Given the description of an element on the screen output the (x, y) to click on. 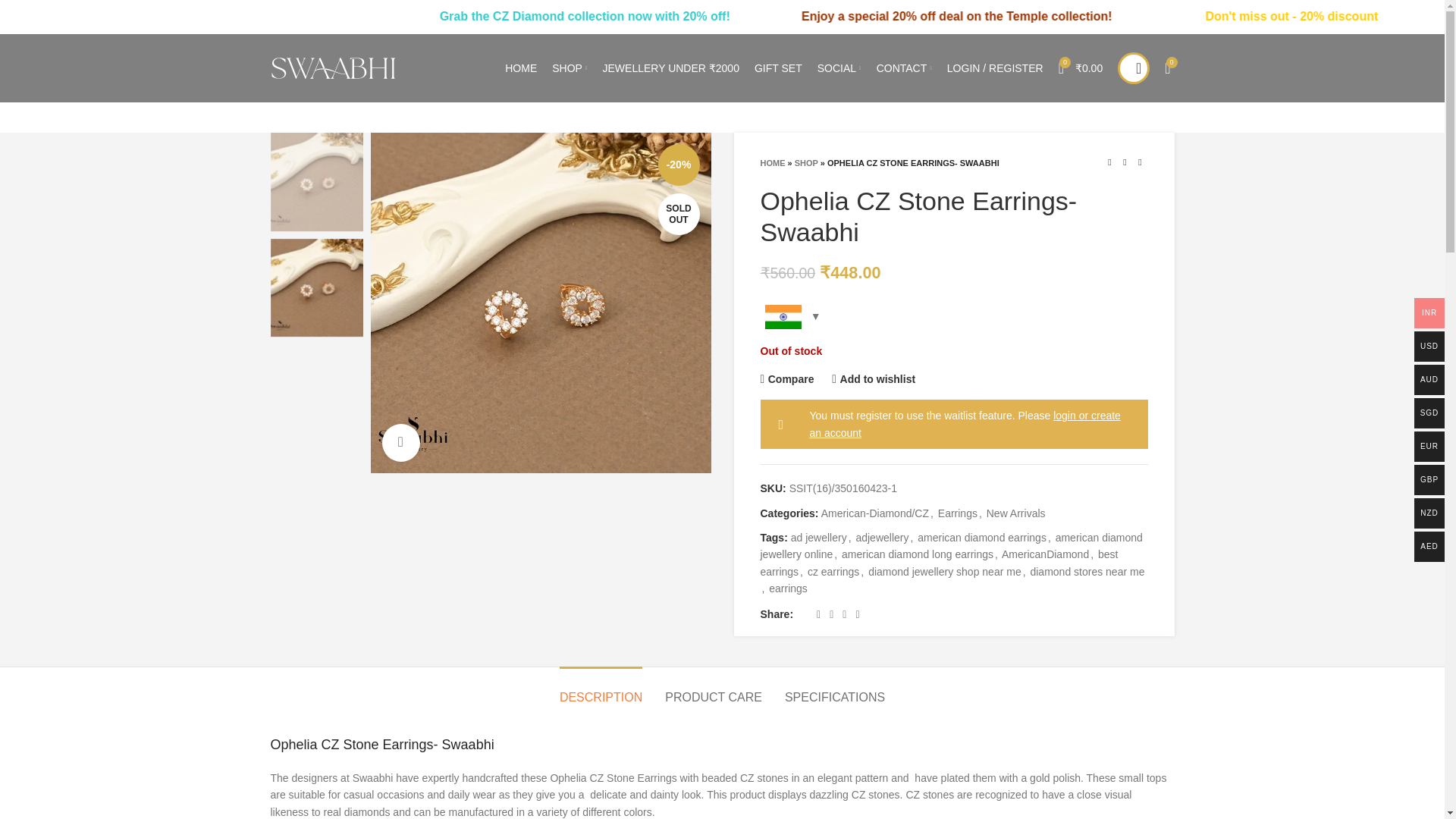
Temple collection! (1207, 15)
HOME (521, 68)
SHOP (568, 68)
CZ Diamond (668, 15)
